Given the description of an element on the screen output the (x, y) to click on. 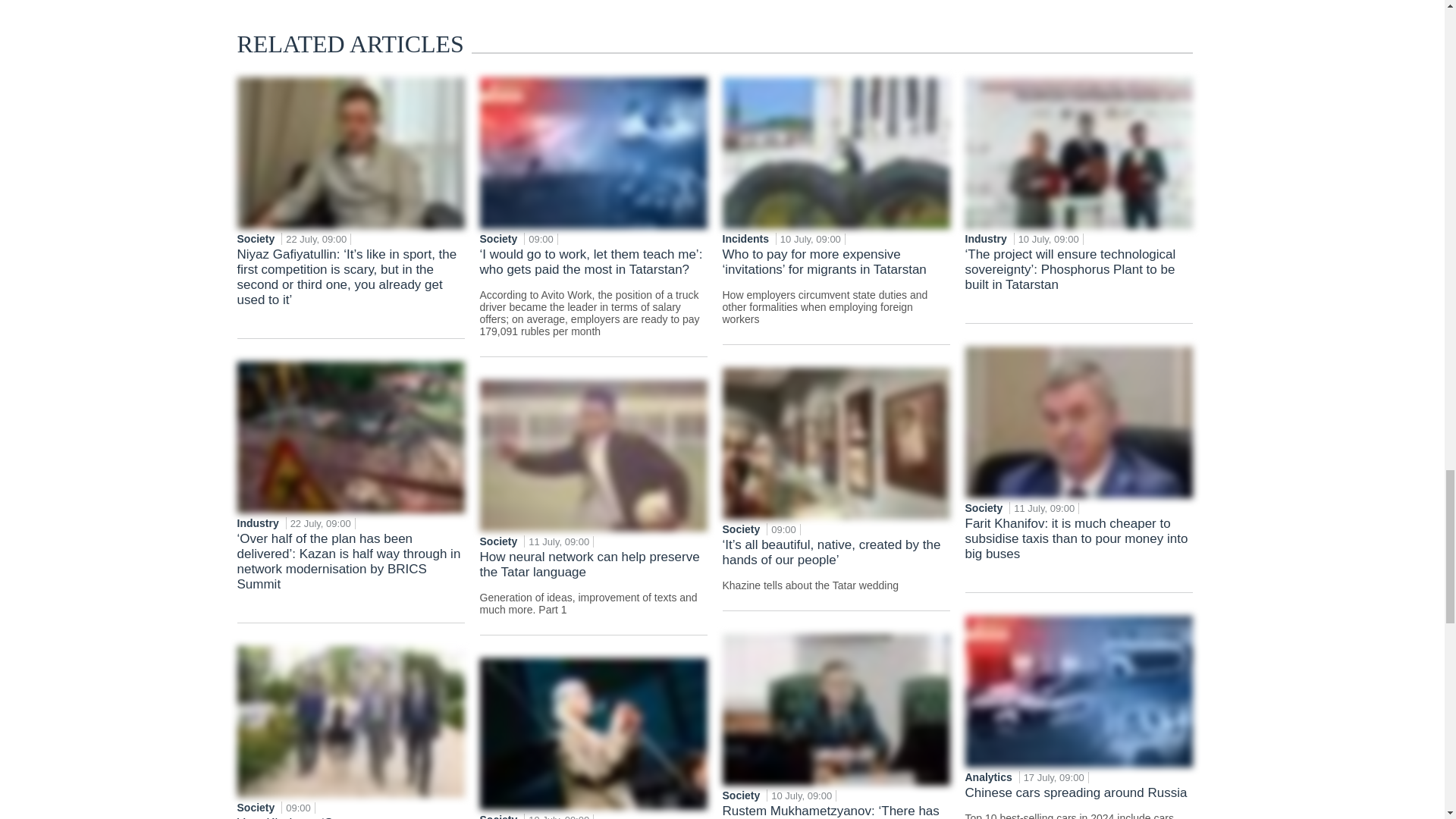
Society (256, 807)
Society (499, 238)
Society (256, 238)
Industry (258, 522)
